Given the description of an element on the screen output the (x, y) to click on. 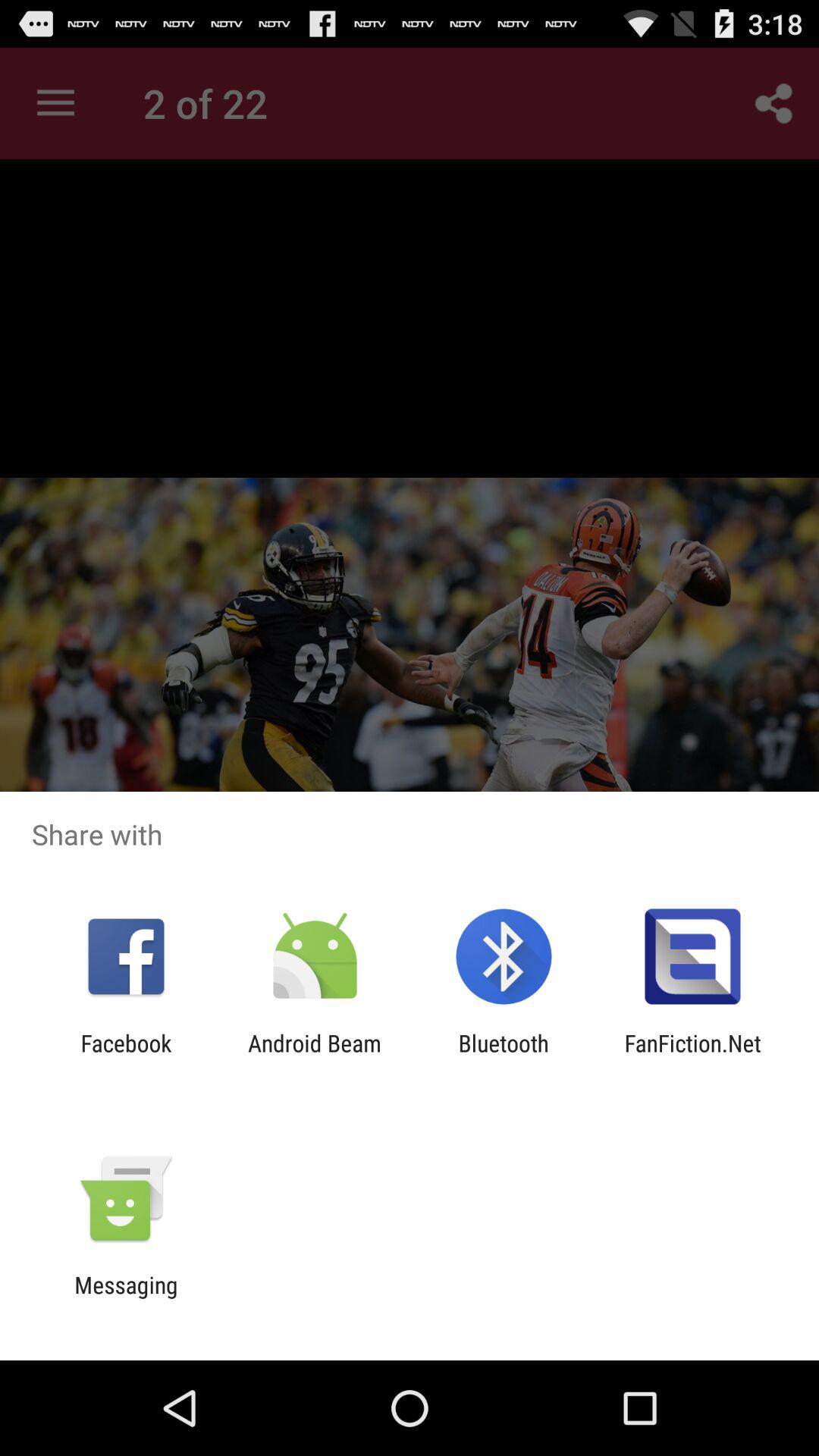
choose messaging app (126, 1298)
